Given the description of an element on the screen output the (x, y) to click on. 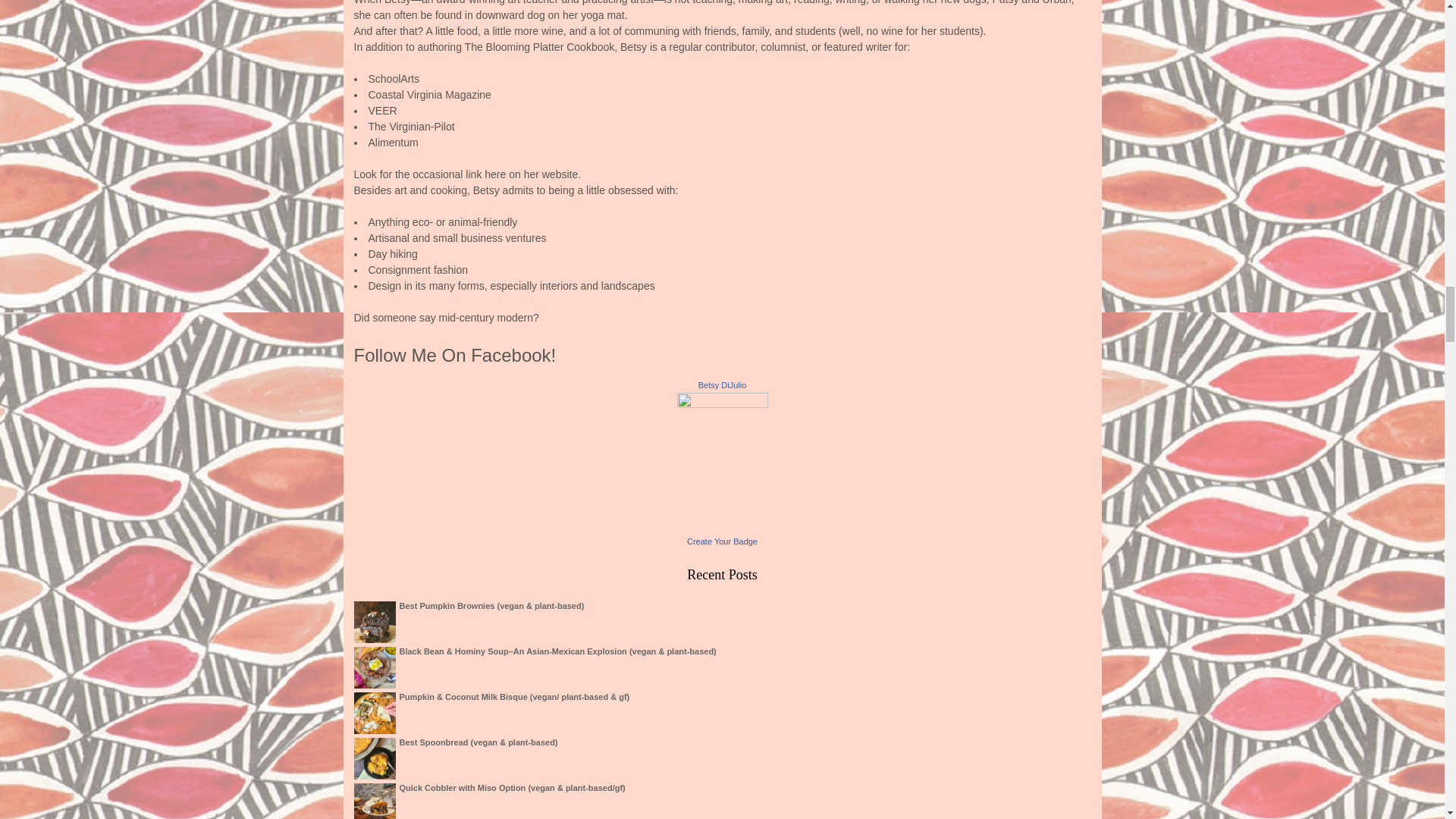
Betsy DiJulio (722, 384)
Make your own badge! (722, 541)
Betsy DiJulio (722, 404)
